Given the description of an element on the screen output the (x, y) to click on. 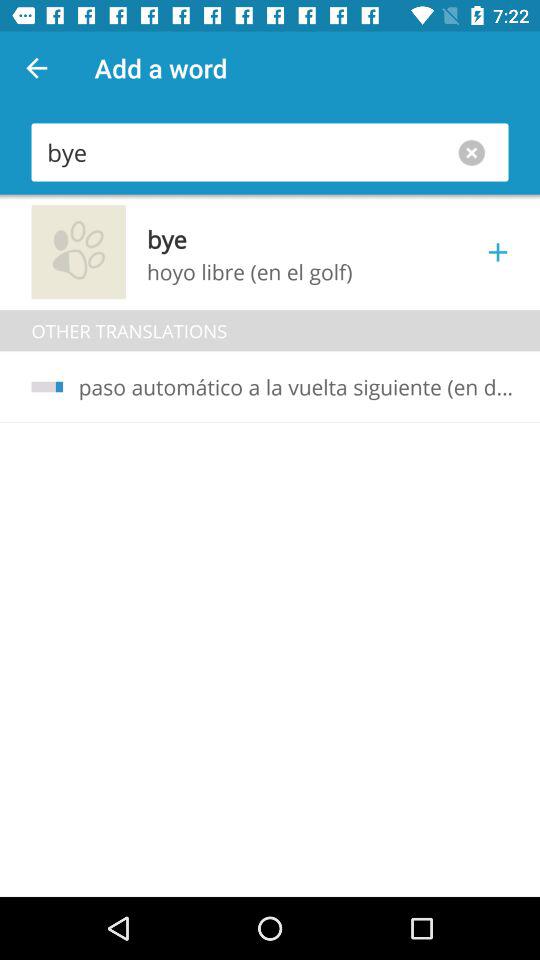
clear words (476, 152)
